Given the description of an element on the screen output the (x, y) to click on. 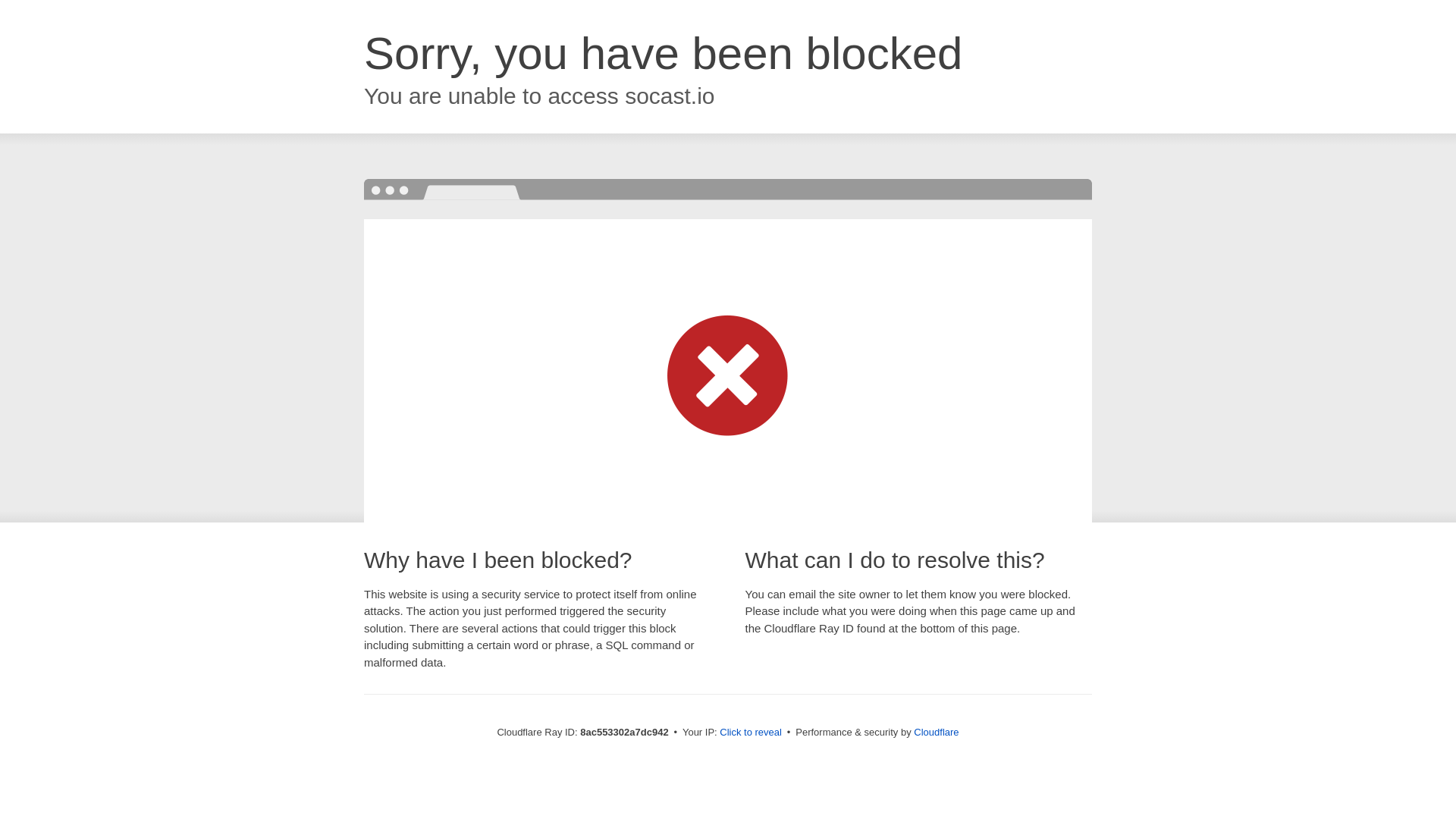
Cloudflare (936, 731)
Click to reveal (750, 732)
